Given the description of an element on the screen output the (x, y) to click on. 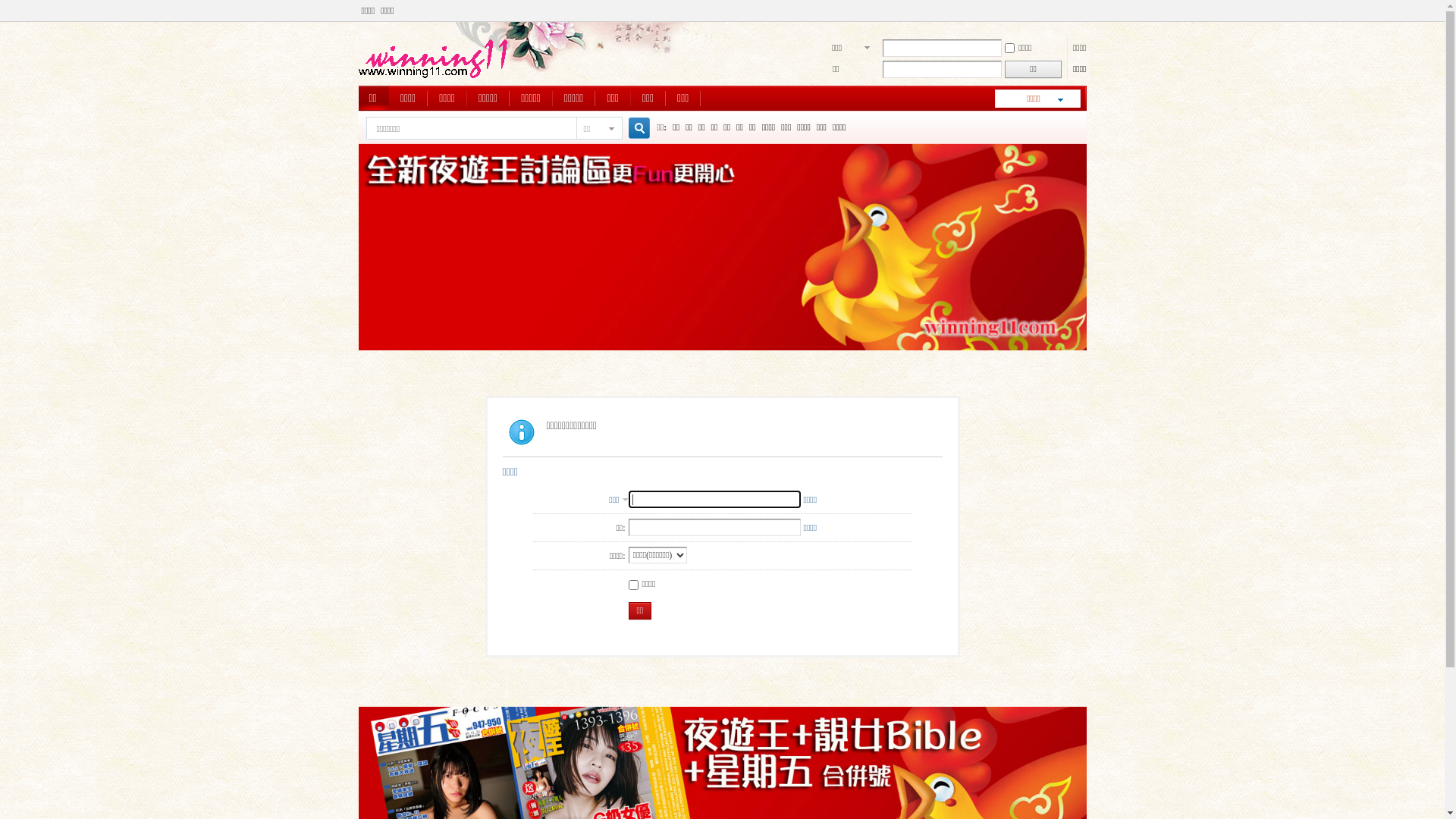
winning11 Element type: hover (433, 76)
true Element type: text (632, 128)
